Given the description of an element on the screen output the (x, y) to click on. 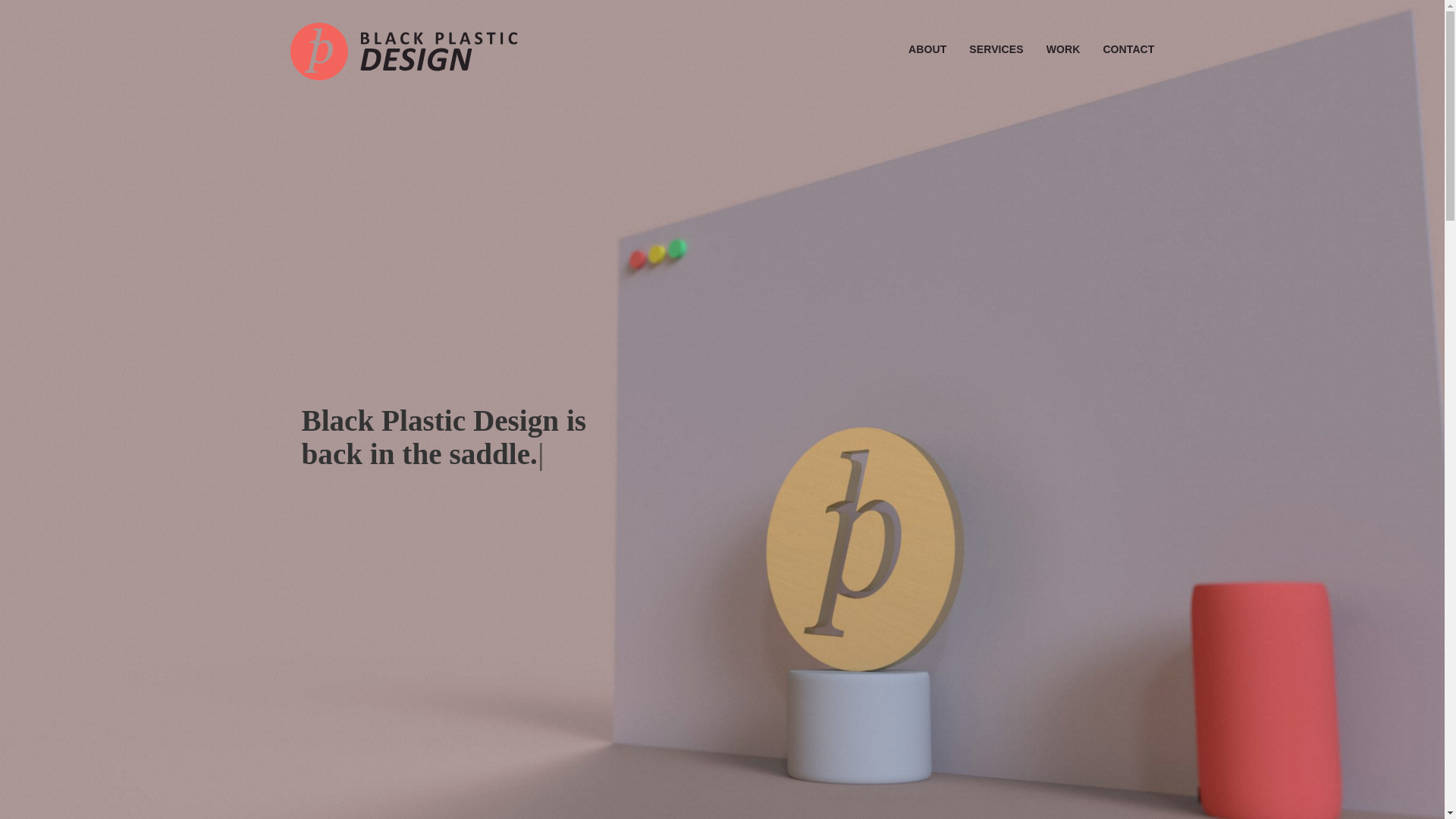
CONTACT Element type: text (1128, 48)
Black Plastic Design Element type: hover (403, 51)
SERVICES Element type: text (995, 48)
ABOUT Element type: text (927, 48)
WORK Element type: text (1063, 48)
